Given the description of an element on the screen output the (x, y) to click on. 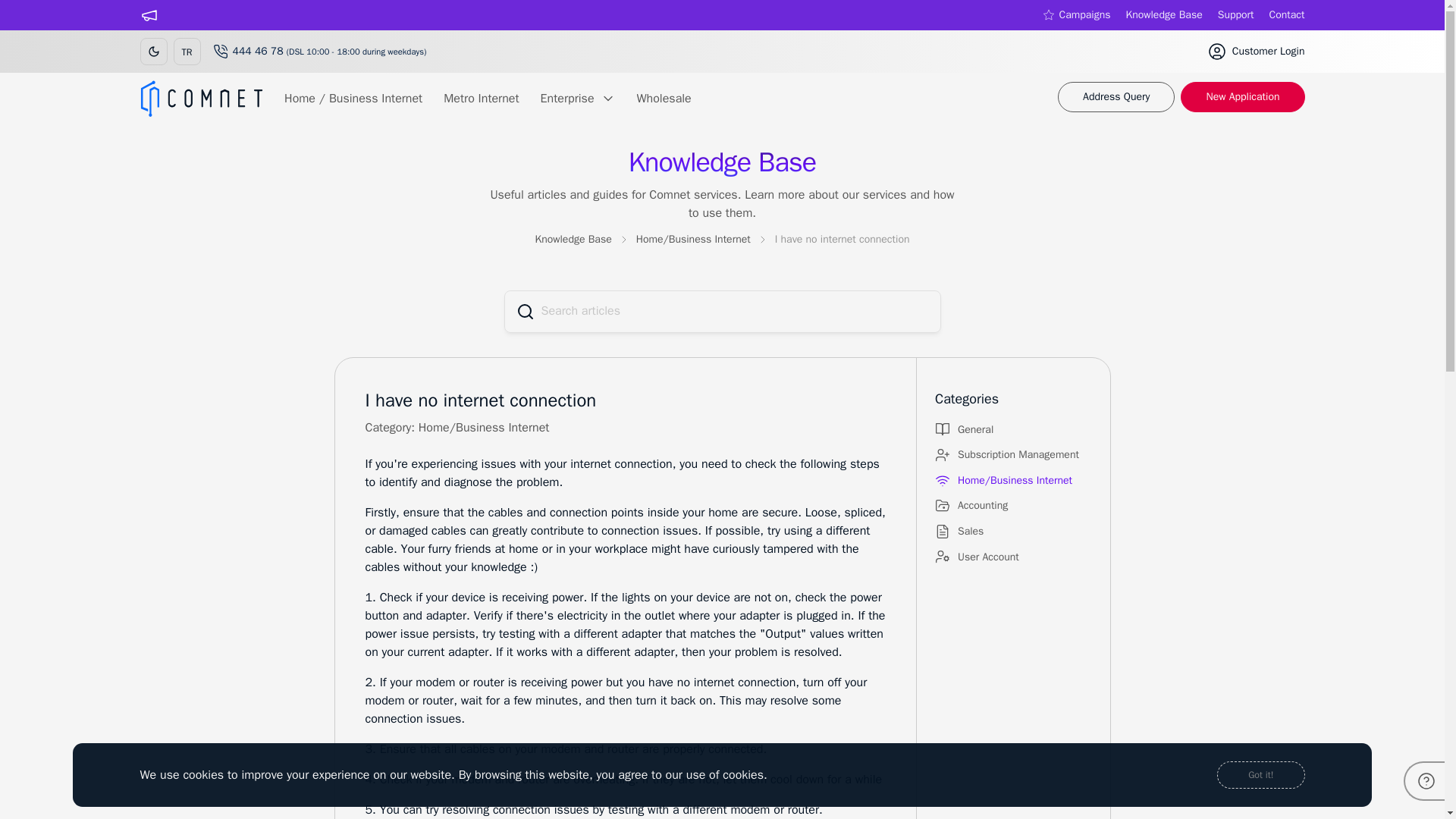
Metro Internet (481, 98)
Customer Login (1256, 51)
User Account (1013, 558)
Accounting (1013, 506)
Support (1235, 14)
Campaigns (1076, 14)
Comnet (201, 98)
New Application (1242, 96)
Wholesale (664, 98)
Subscription Management (1013, 456)
TR (187, 51)
Knowledge Base (573, 239)
Address Query (1116, 96)
General (1013, 431)
Knowledge Base (1163, 14)
